Given the description of an element on the screen output the (x, y) to click on. 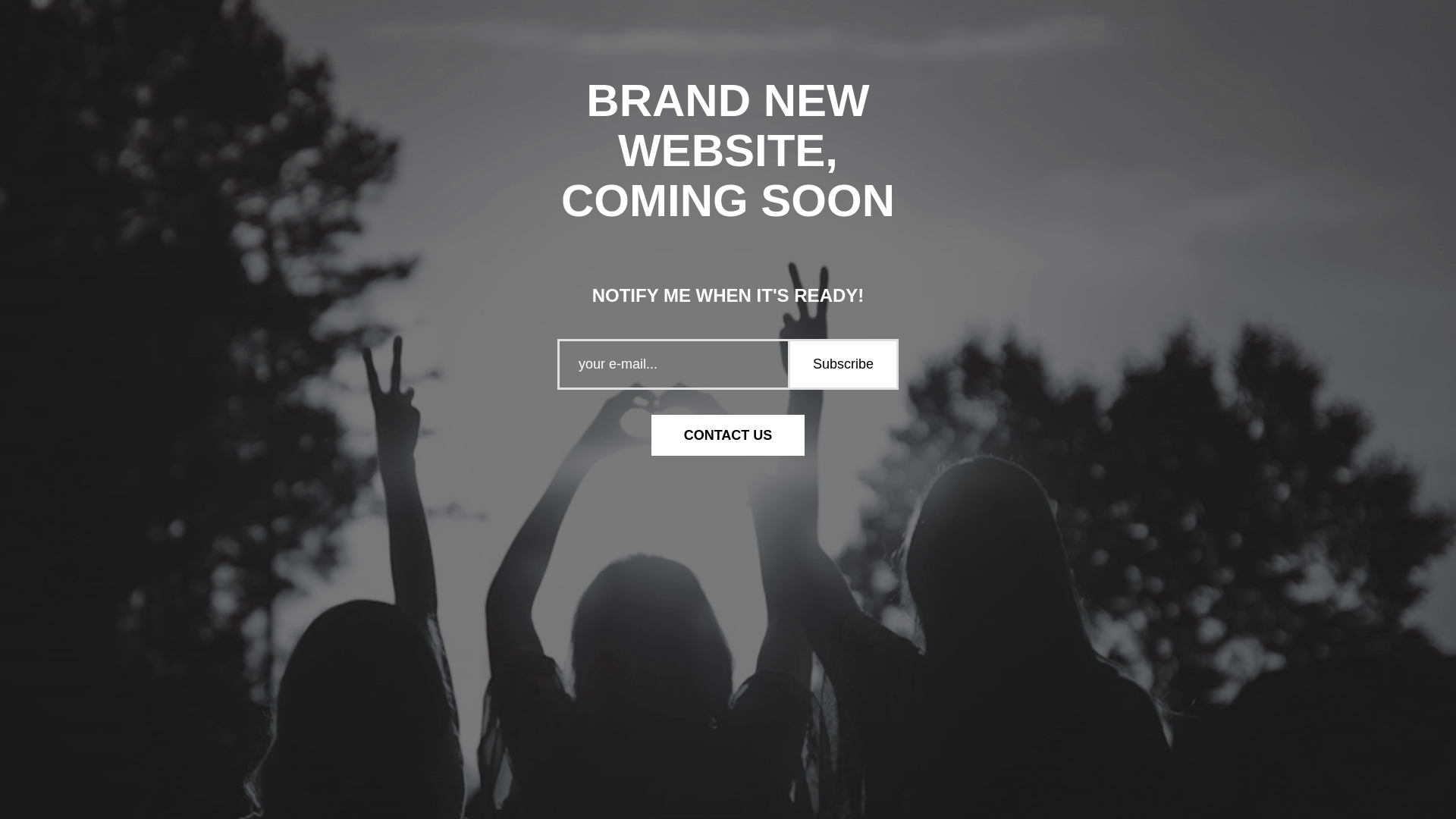
Subscribe Element type: text (841, 364)
CONTACT US Element type: text (728, 434)
